Given the description of an element on the screen output the (x, y) to click on. 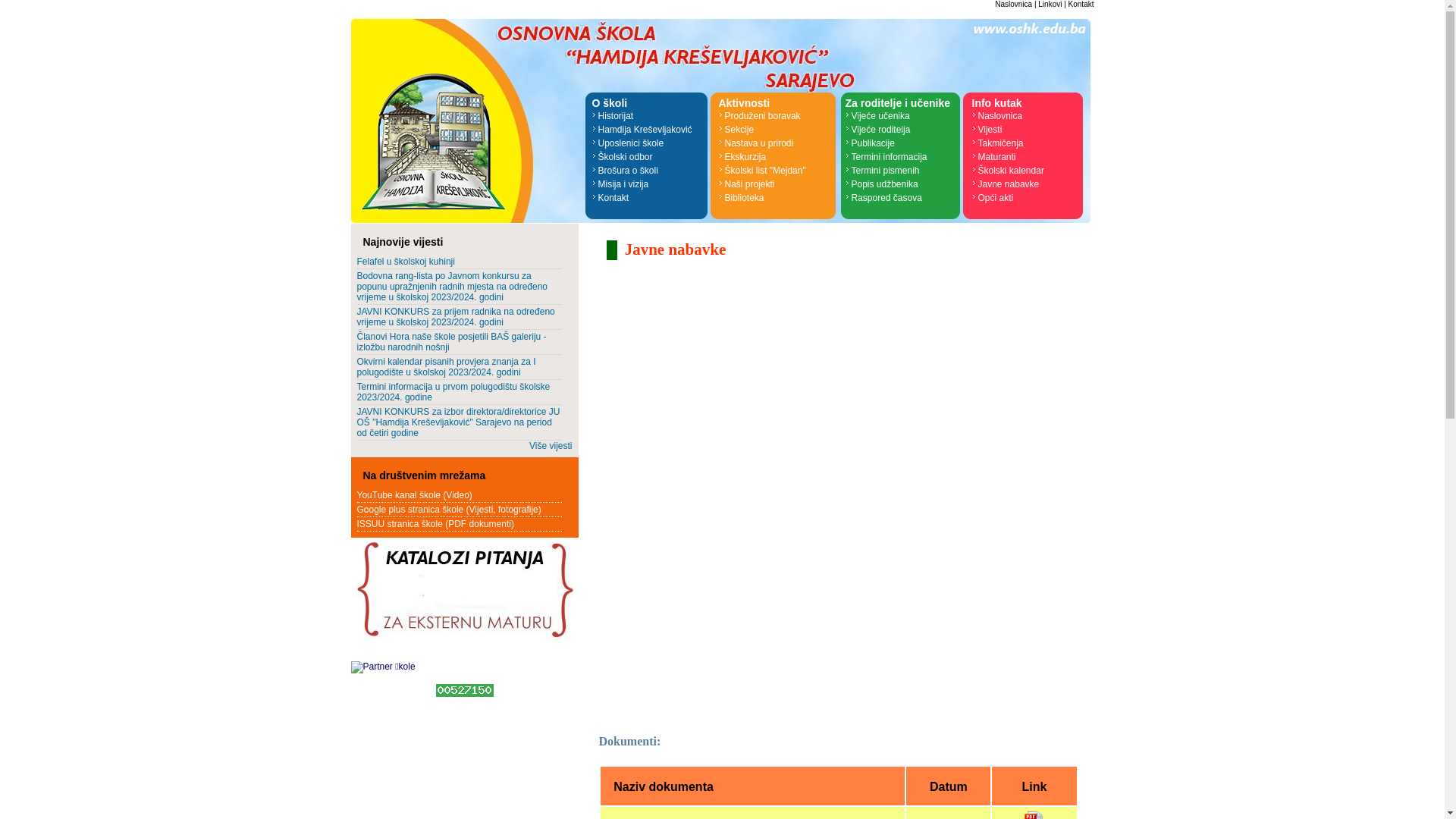
Nastava u prirodi Element type: text (776, 143)
Publikacije Element type: text (902, 143)
Maturanti Element type: text (1030, 156)
Vijesti Element type: text (1030, 129)
Ekskurzija Element type: text (776, 156)
Termini pismenih Element type: text (902, 170)
Naslovnica Element type: text (1030, 115)
Termini informacija Element type: text (902, 156)
Naslovnica Element type: text (1013, 4)
Misija i vizija Element type: text (649, 184)
Kontakt Element type: text (649, 197)
Linkovi Element type: text (1049, 4)
Sekcije Element type: text (776, 129)
Kontakt Element type: text (1081, 4)
Biblioteka Element type: text (776, 197)
Javne nabavke Element type: text (1030, 184)
Historijat Element type: text (649, 115)
